Given the description of an element on the screen output the (x, y) to click on. 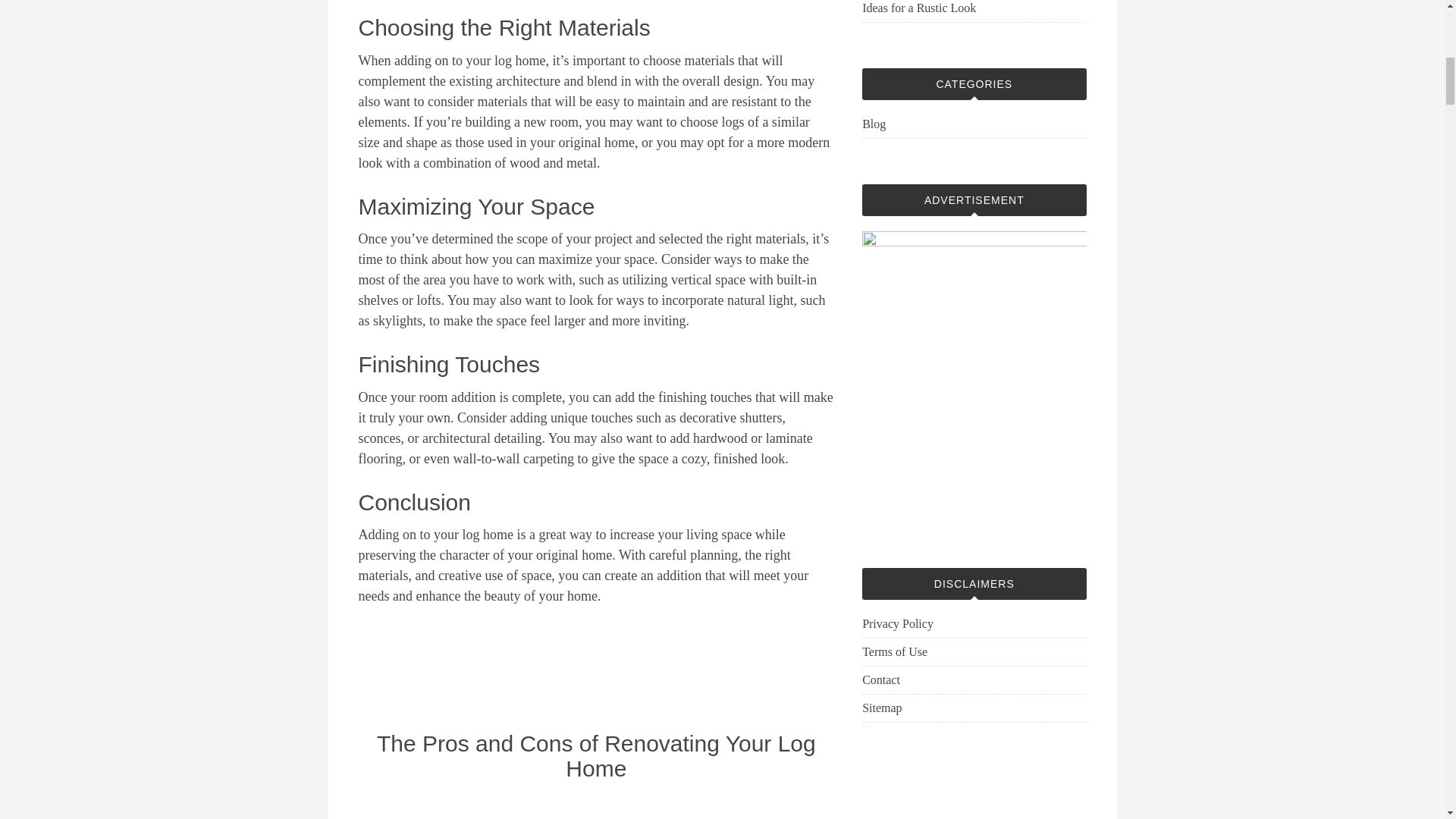
The Pros and Cons of Renovating Your Log Home (596, 756)
